Given the description of an element on the screen output the (x, y) to click on. 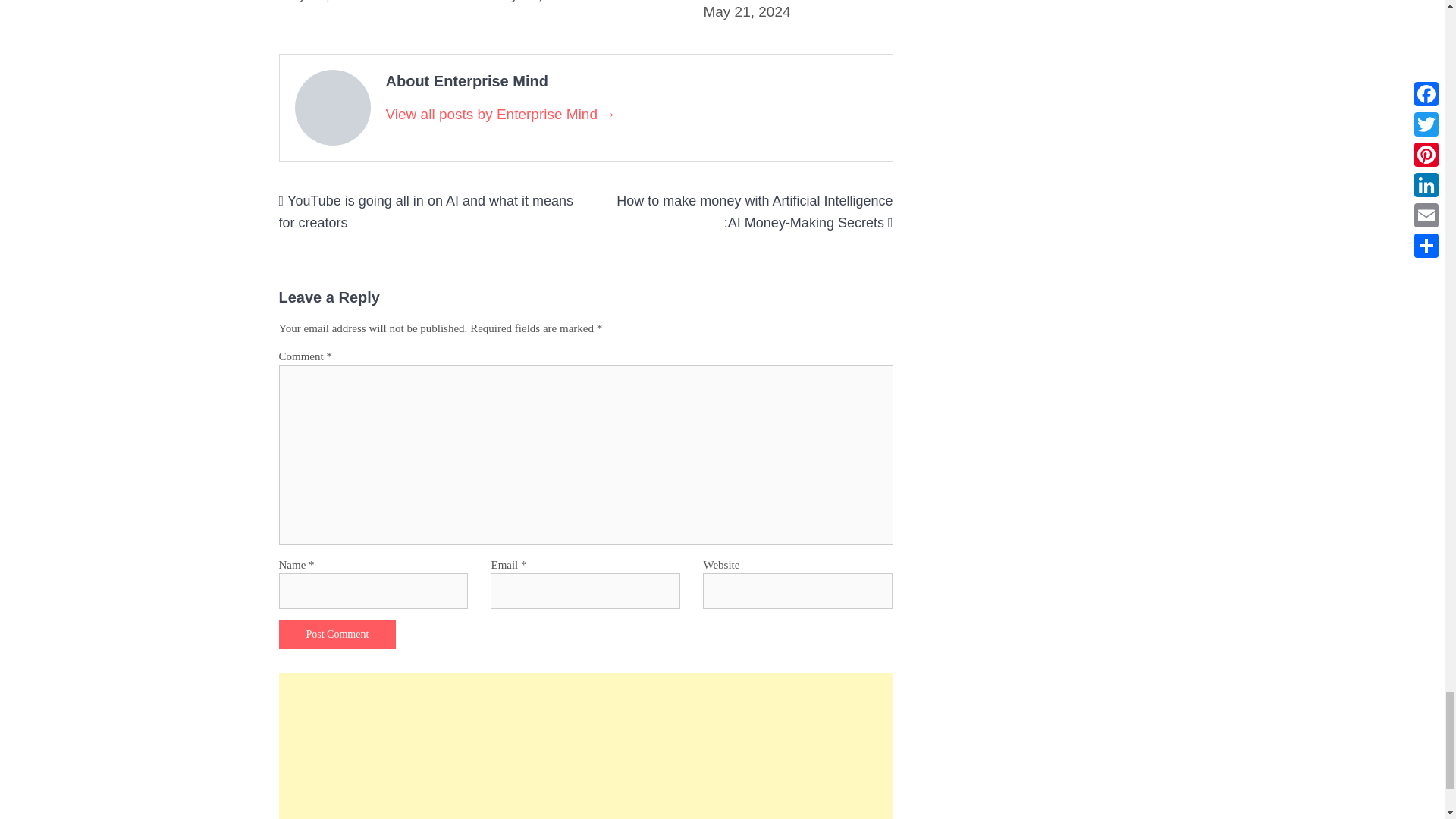
Post Comment (337, 634)
